Given the description of an element on the screen output the (x, y) to click on. 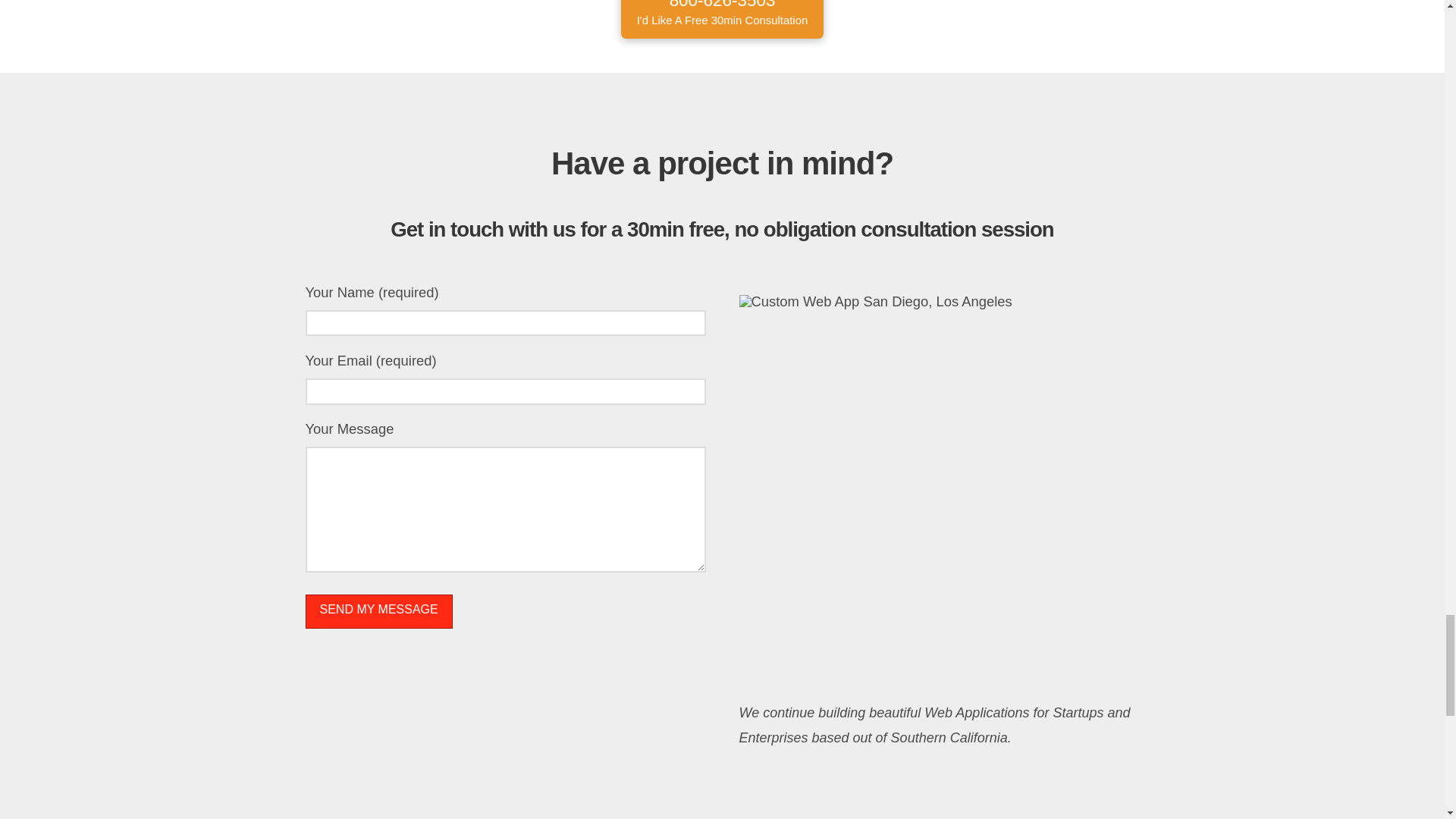
Send My Message (722, 18)
Send My Message (377, 611)
